Given the description of an element on the screen output the (x, y) to click on. 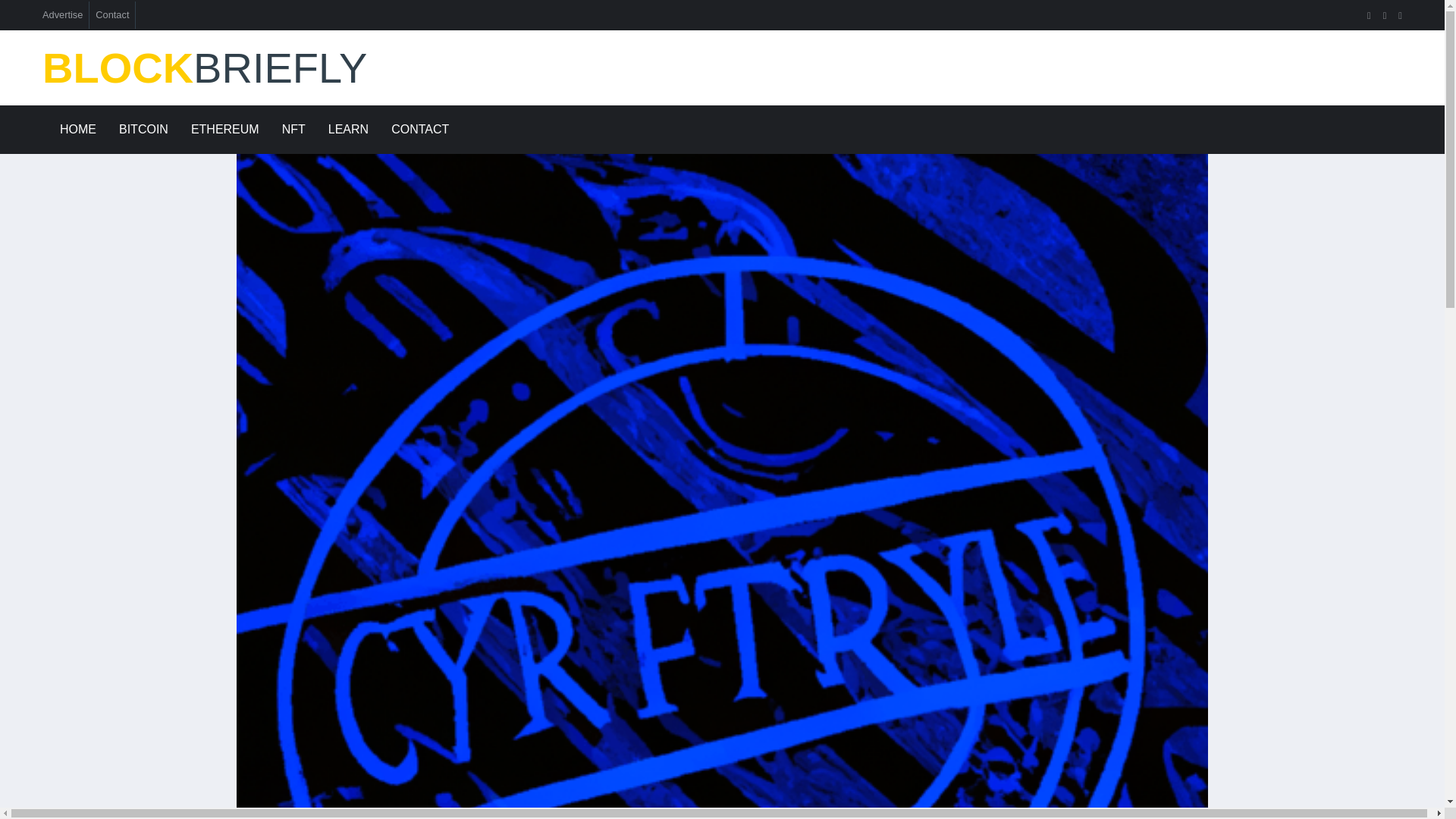
CONTACT (420, 129)
ETHEREUM (224, 129)
BITCOIN (143, 129)
NFT (293, 129)
HOME (77, 129)
Advertise (62, 14)
BLOCKBRIEFLY (259, 67)
LEARN (348, 129)
Contact (111, 14)
